Given the description of an element on the screen output the (x, y) to click on. 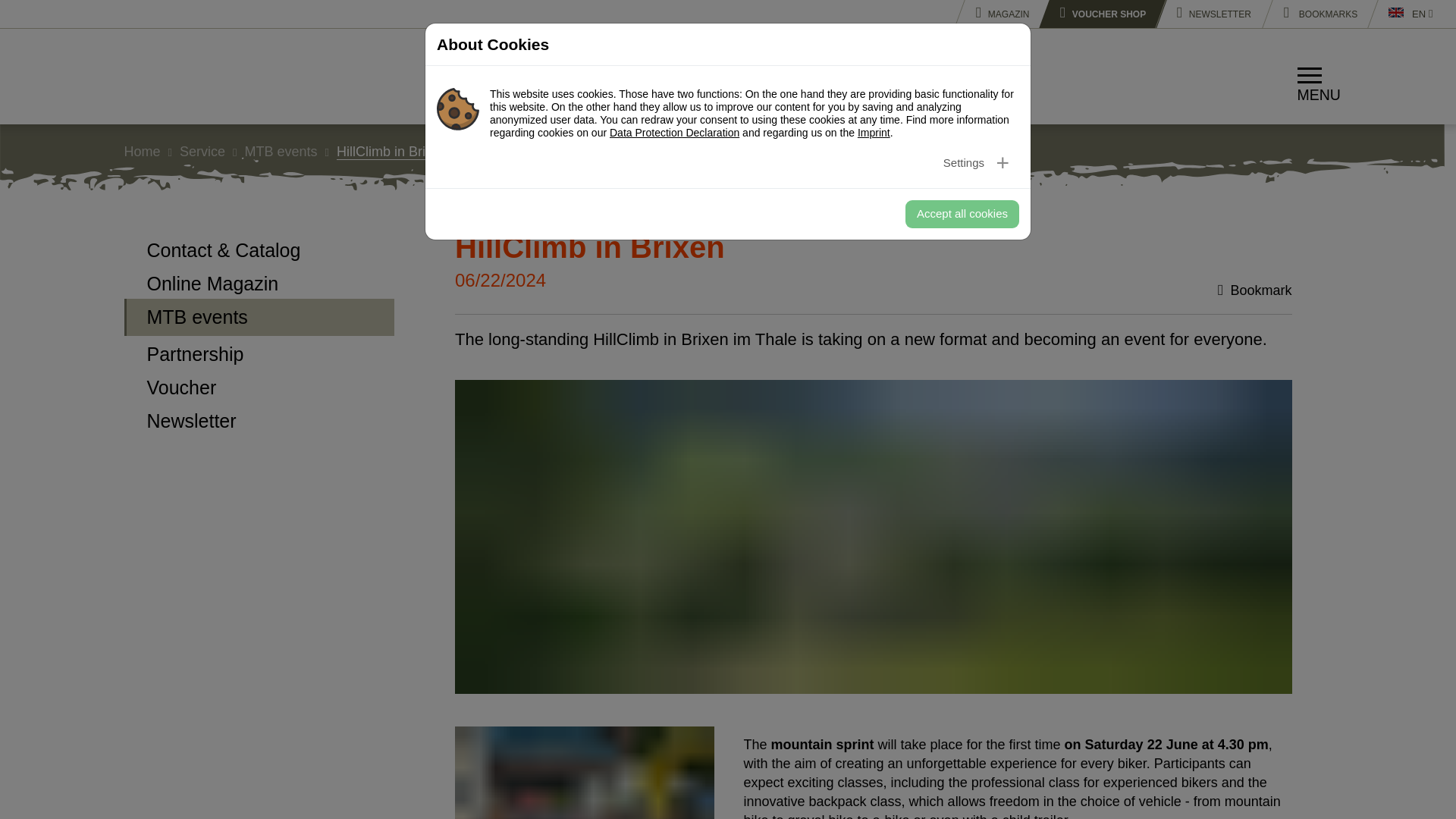
Newsletter (1209, 13)
MTB events (258, 316)
Online Magazin (258, 281)
Newsletter (258, 418)
Magazin (996, 13)
Mountain biking holidays - bike hotels for your mtb holiday (188, 76)
Voucher Shop (1097, 13)
NEWSLETTER (1209, 13)
Mountain biking holidays - bike hotels for your mtb holiday (188, 76)
BOOKMARKS (1315, 13)
Voucher (258, 385)
MAGAZIN (996, 13)
VOUCHER SHOP (1097, 13)
Partnership (258, 352)
